Given the description of an element on the screen output the (x, y) to click on. 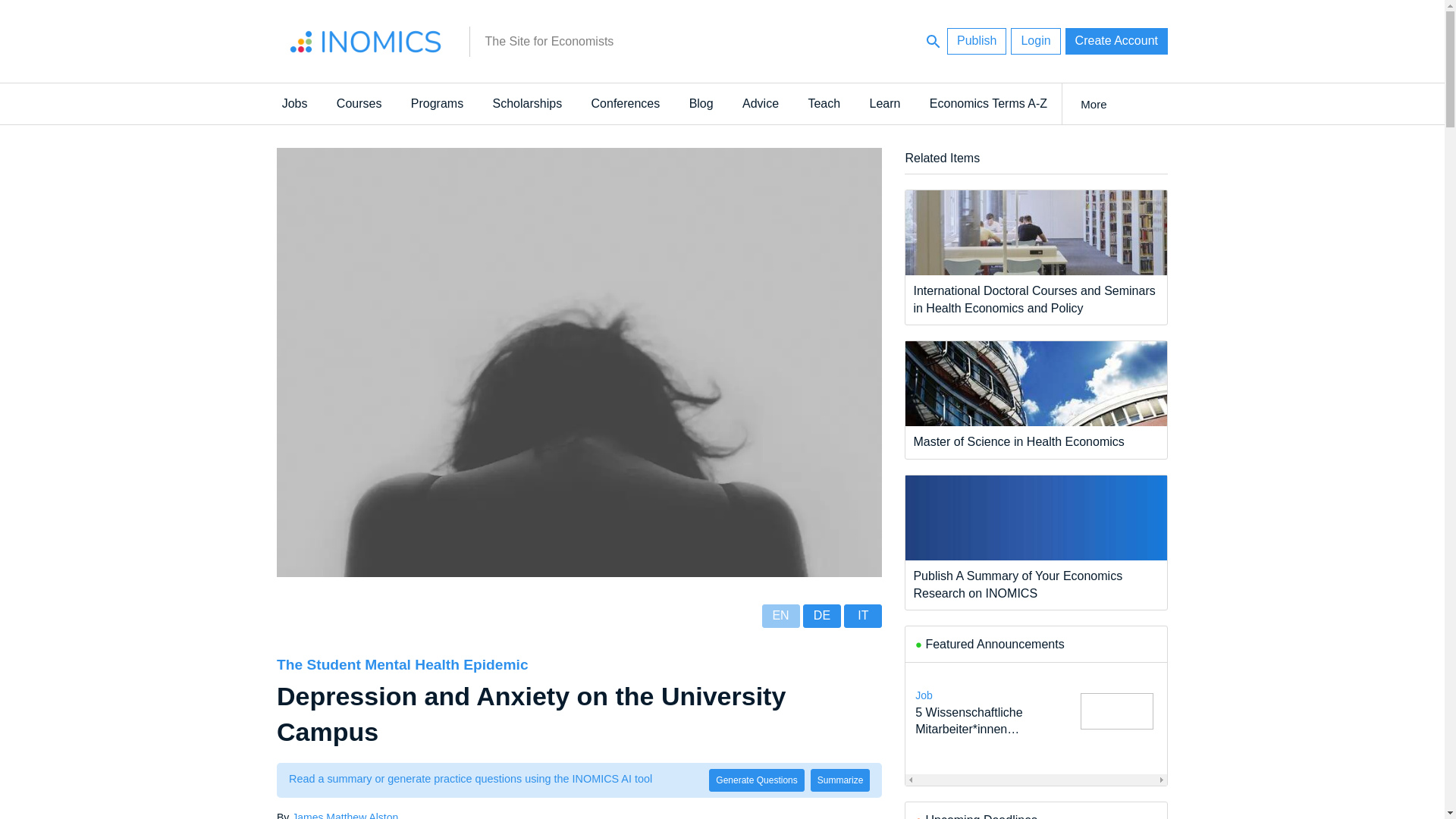
Share on Facebook (224, 752)
Tweet (224, 688)
Share on LinkedIn (224, 656)
Email (224, 720)
Home (365, 40)
